Given the description of an element on the screen output the (x, y) to click on. 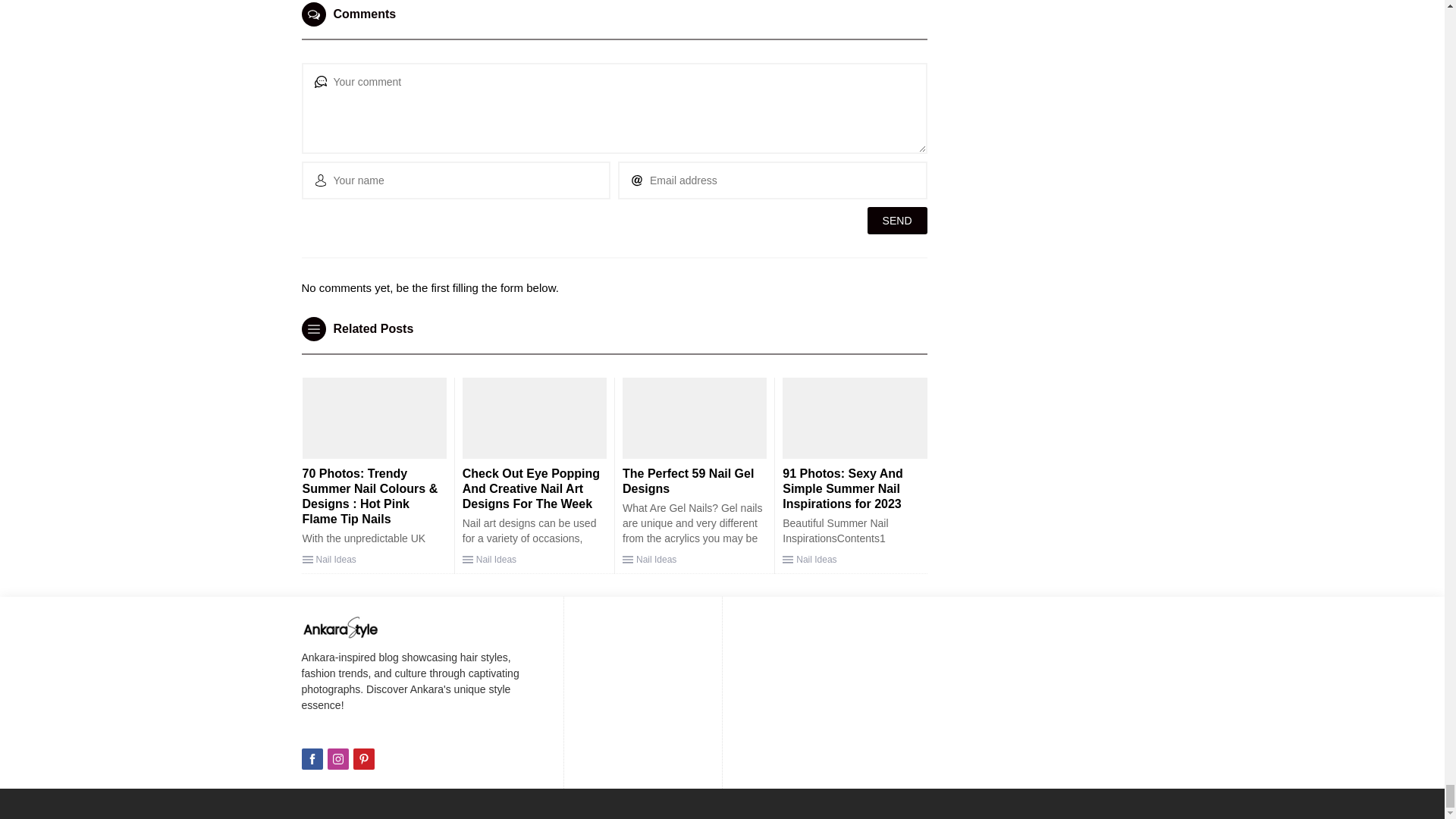
Send (897, 220)
The Perfect 59 Nail Gel Designs (688, 480)
Nail Ideas (496, 559)
Send (897, 220)
Facebook (312, 758)
Instagram (338, 758)
Nail Ideas (335, 559)
Fashion ideas (339, 626)
